Given the description of an element on the screen output the (x, y) to click on. 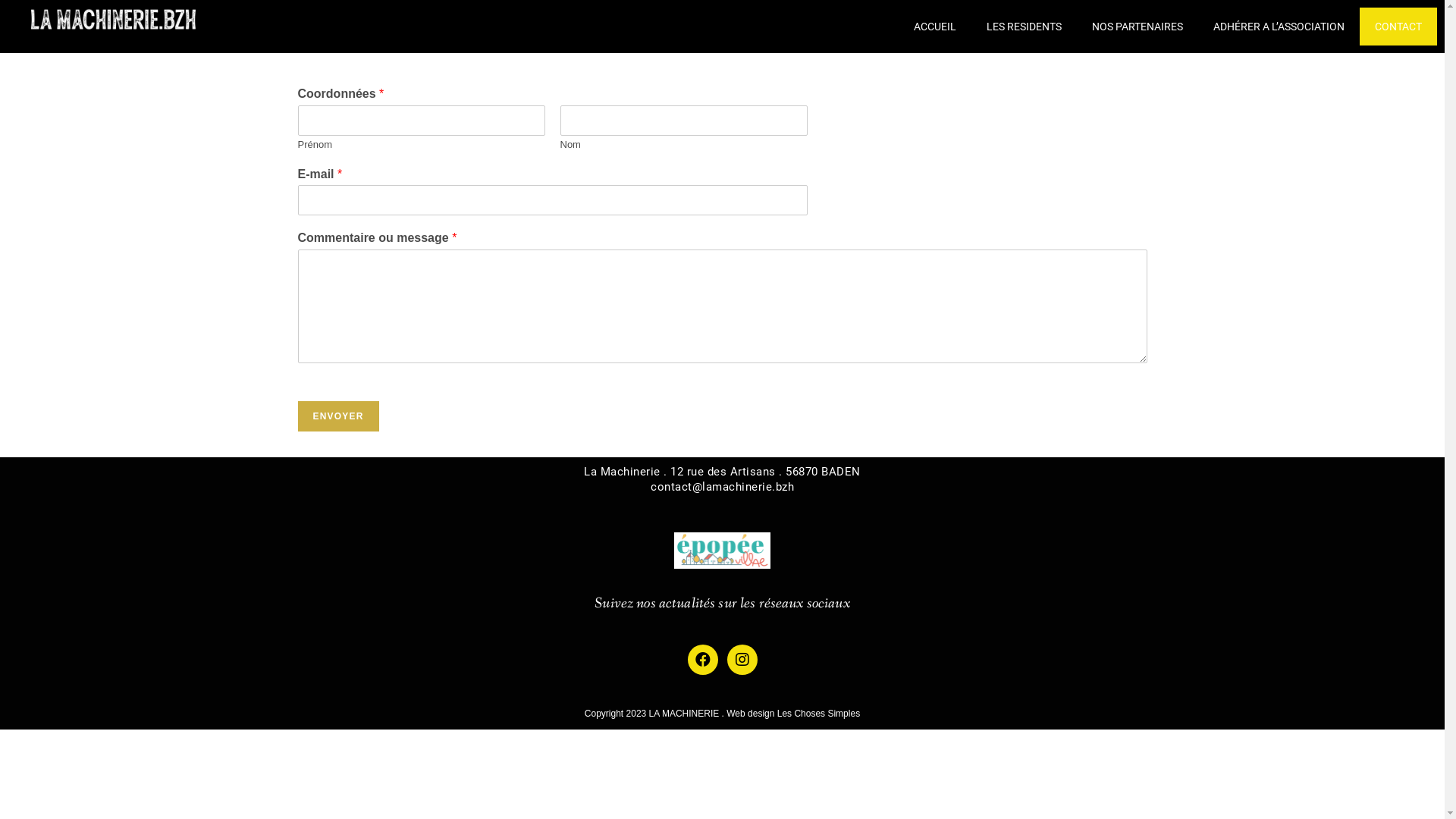
CONTACT Element type: text (1398, 26)
ENVOYER Element type: text (337, 416)
NOS PARTENAIRES Element type: text (1137, 26)
ACCUEIL Element type: text (934, 26)
LES RESIDENTS Element type: text (1023, 26)
Les Choses Simples Element type: text (818, 713)
